Given the description of an element on the screen output the (x, y) to click on. 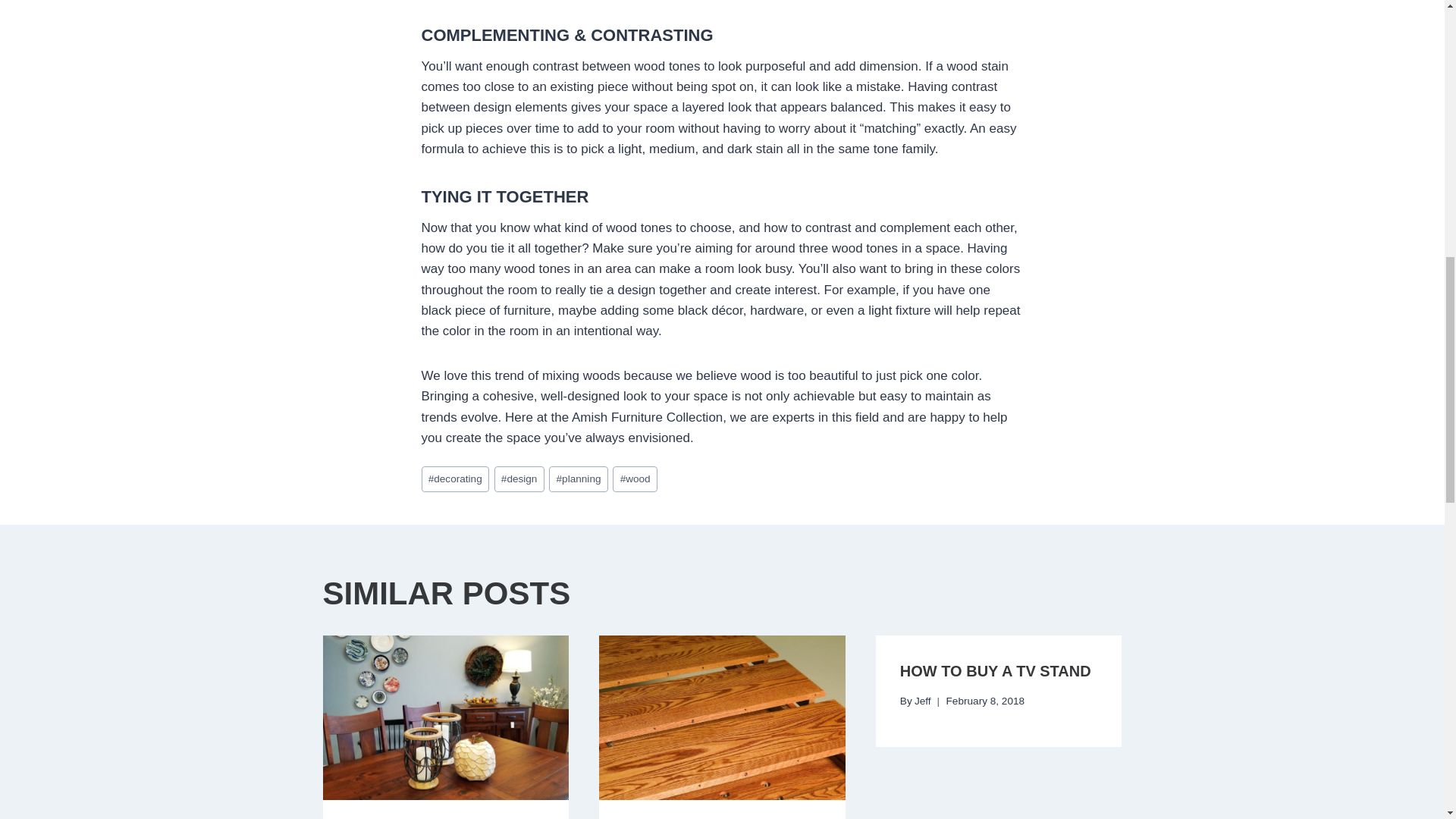
planning (577, 479)
decorating (455, 479)
HOW TO BUY A TV STAND (994, 670)
Jeff (922, 700)
wood (634, 479)
design (519, 479)
